Given the description of an element on the screen output the (x, y) to click on. 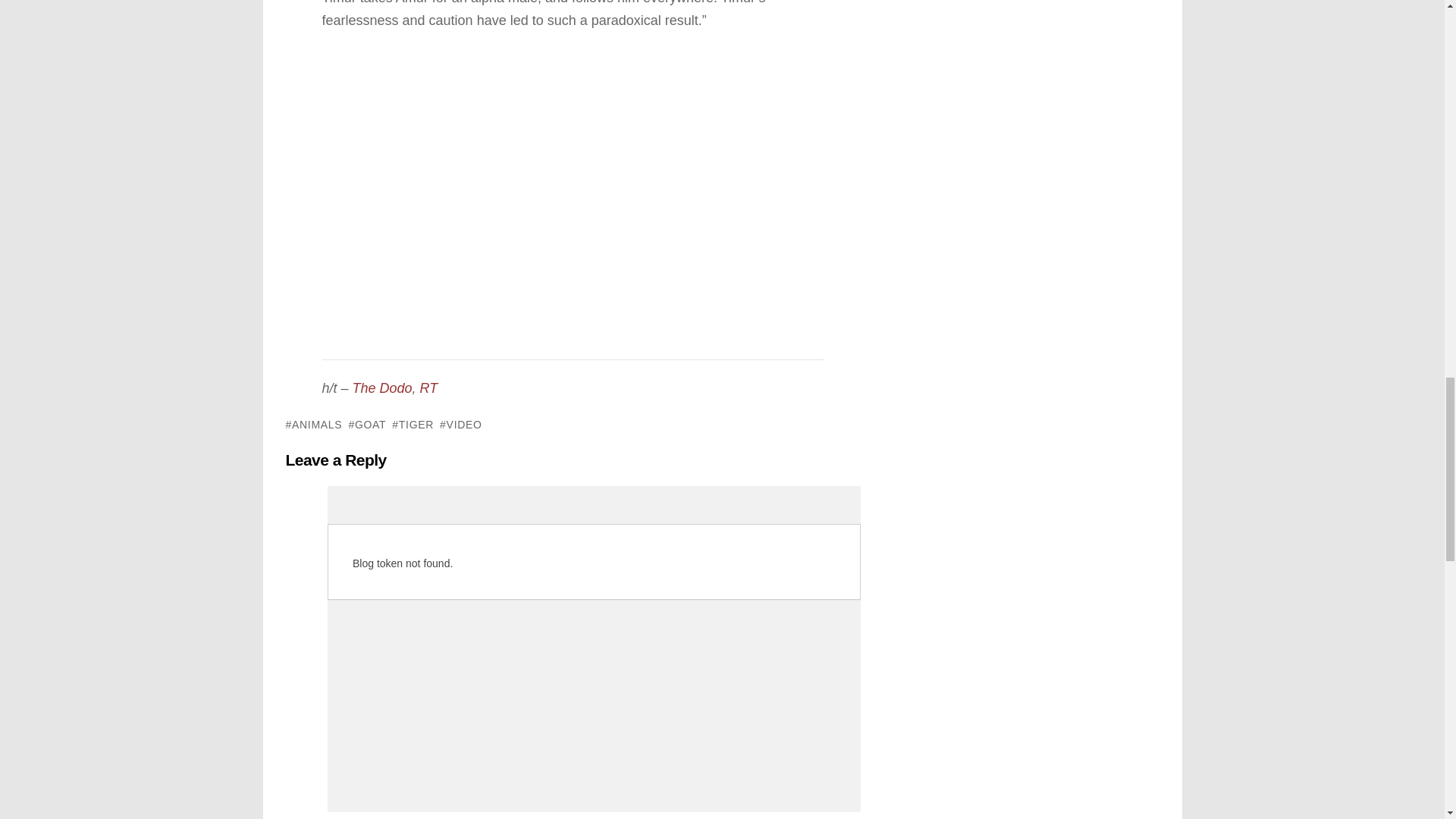
GOAT (366, 424)
The Dodo (382, 387)
VIDEO (460, 424)
TIGER (412, 424)
ANIMALS (313, 424)
RT (429, 387)
